Given the description of an element on the screen output the (x, y) to click on. 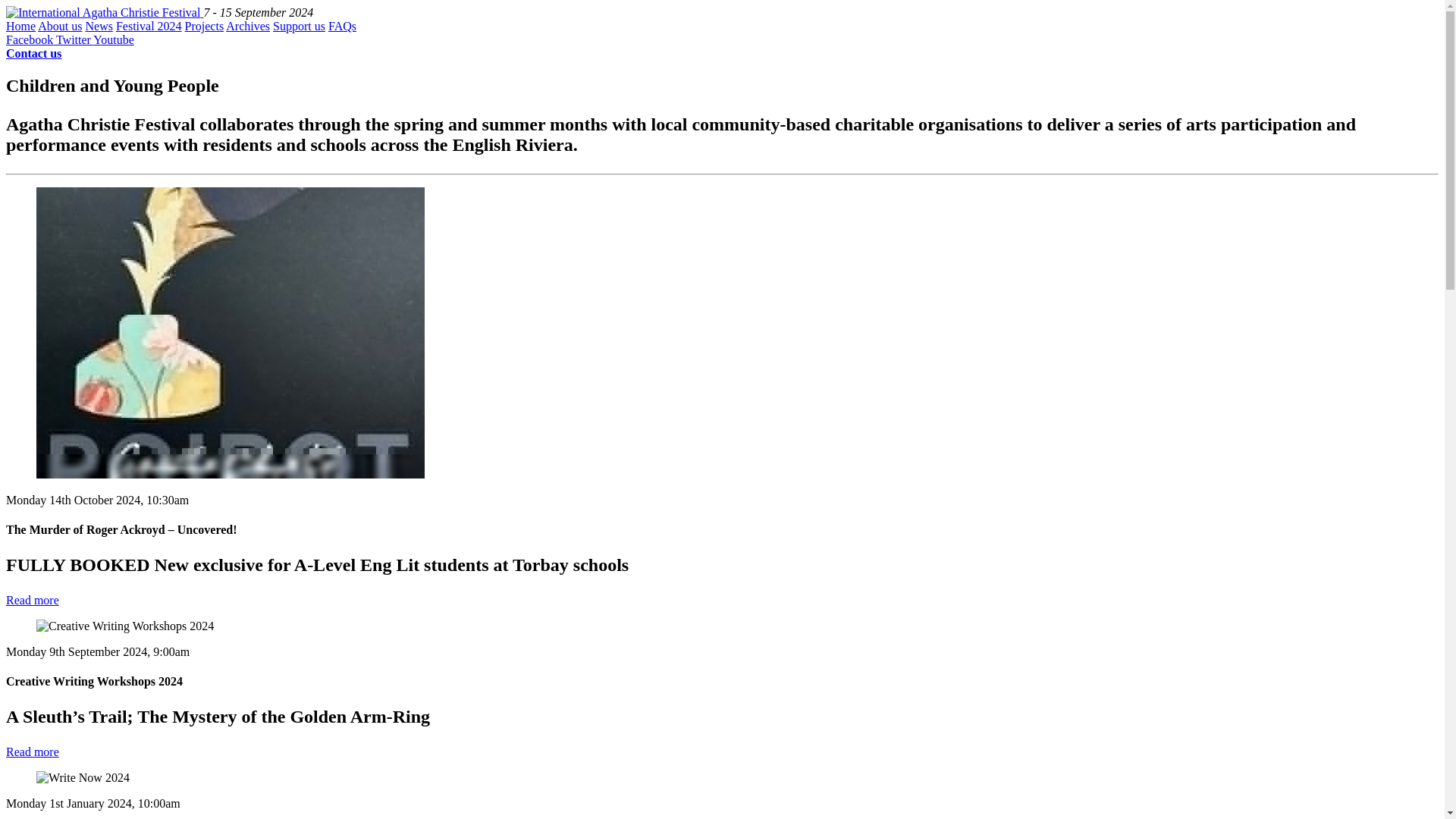
Read more (32, 751)
Read more (32, 599)
Support us (298, 25)
Youtube (113, 39)
Home (19, 25)
Twitter (74, 39)
Facebook (30, 39)
News (98, 25)
Projects (204, 25)
Festival 2024 (149, 25)
